Given the description of an element on the screen output the (x, y) to click on. 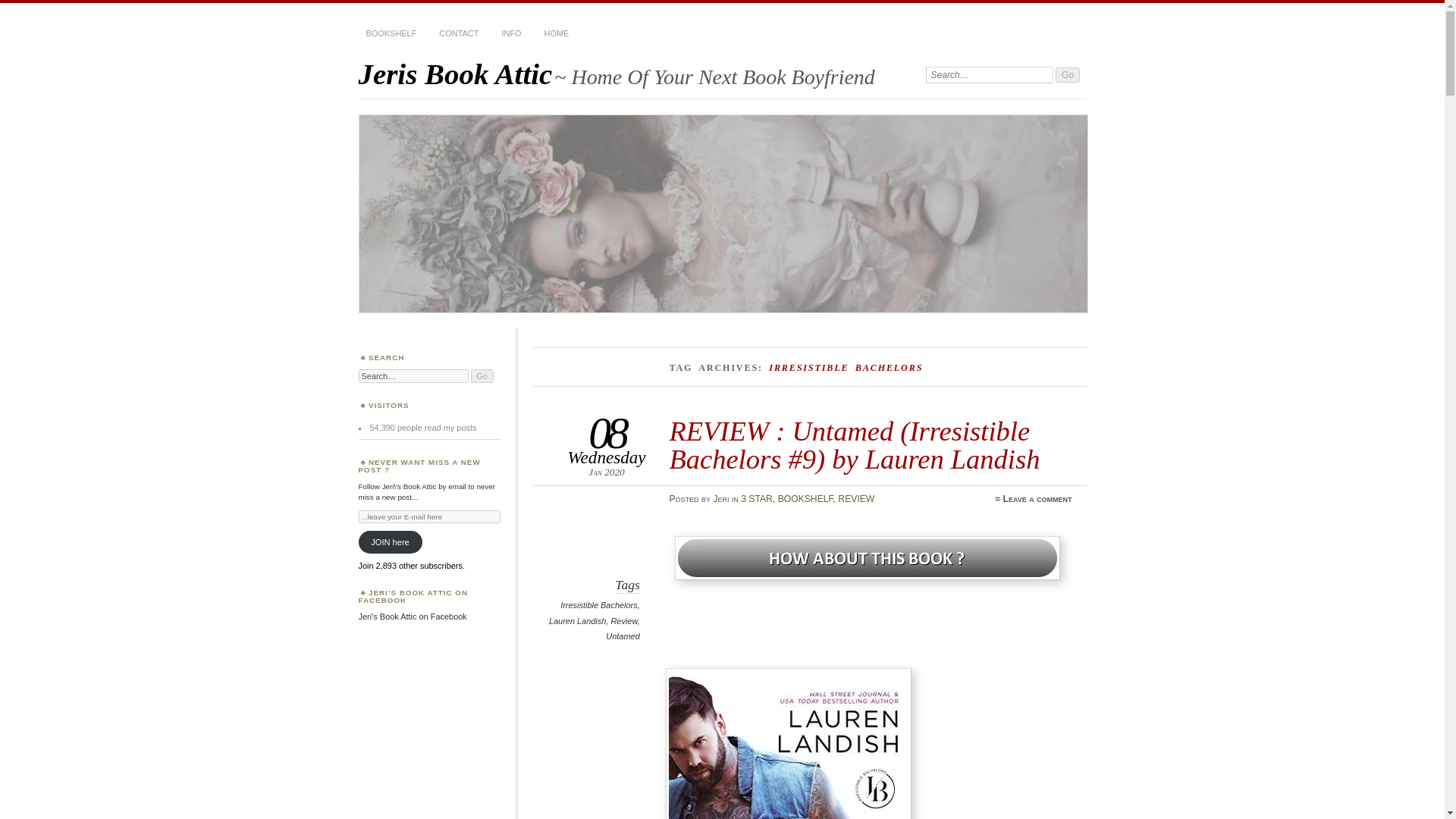
Untamed (622, 635)
Jeri (721, 498)
REVIEW (856, 498)
Jeris Book Attic (454, 73)
Review (623, 620)
3 STAR (757, 498)
BOOKSHELF (804, 498)
INFO (510, 33)
View all posts by Jeri (721, 498)
BOOKSHELF (390, 33)
